Given the description of an element on the screen output the (x, y) to click on. 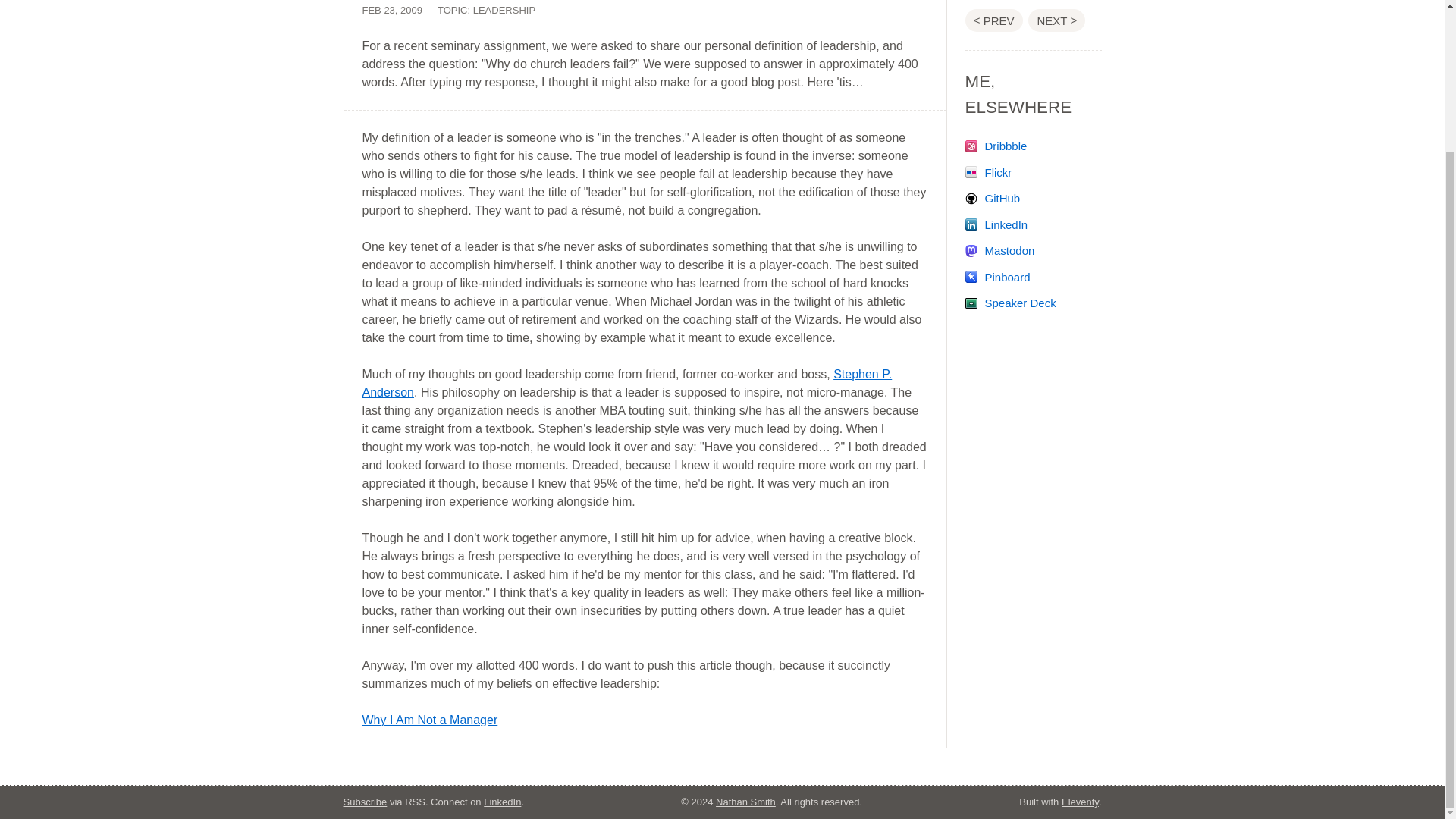
Mastodon (998, 191)
Subscribe (364, 801)
Pinboard (996, 217)
Nathan Smith (746, 801)
LEADERSHIP (504, 9)
Eleventy (1080, 801)
LinkedIn (502, 801)
Dribbble (994, 86)
Flickr (987, 113)
Stephen P. Anderson (627, 382)
LinkedIn (995, 164)
Why I Am Not a Manager (429, 719)
GitHub (991, 138)
Speaker Deck (1009, 243)
